Given the description of an element on the screen output the (x, y) to click on. 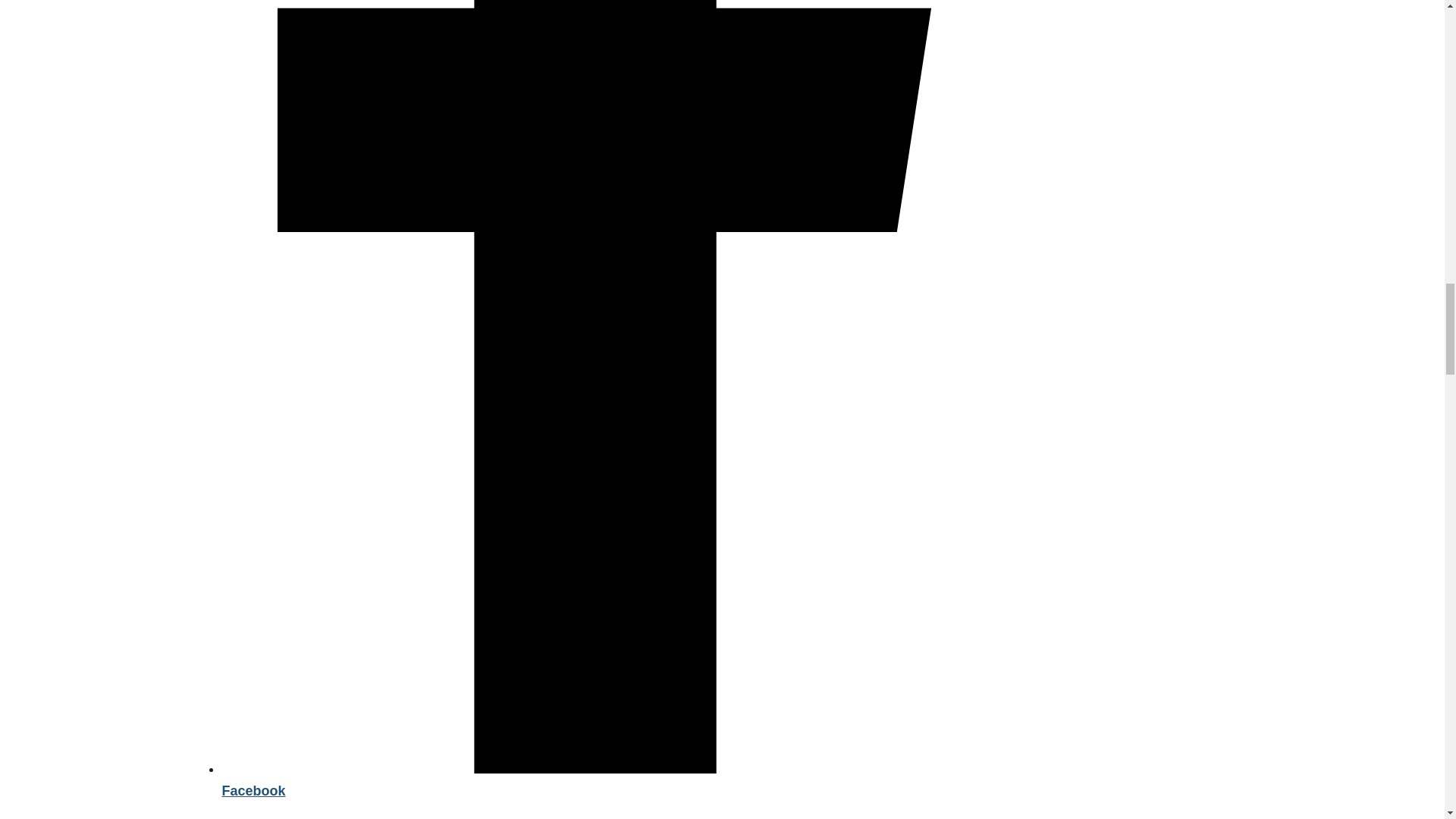
Facebook (607, 779)
